Given the description of an element on the screen output the (x, y) to click on. 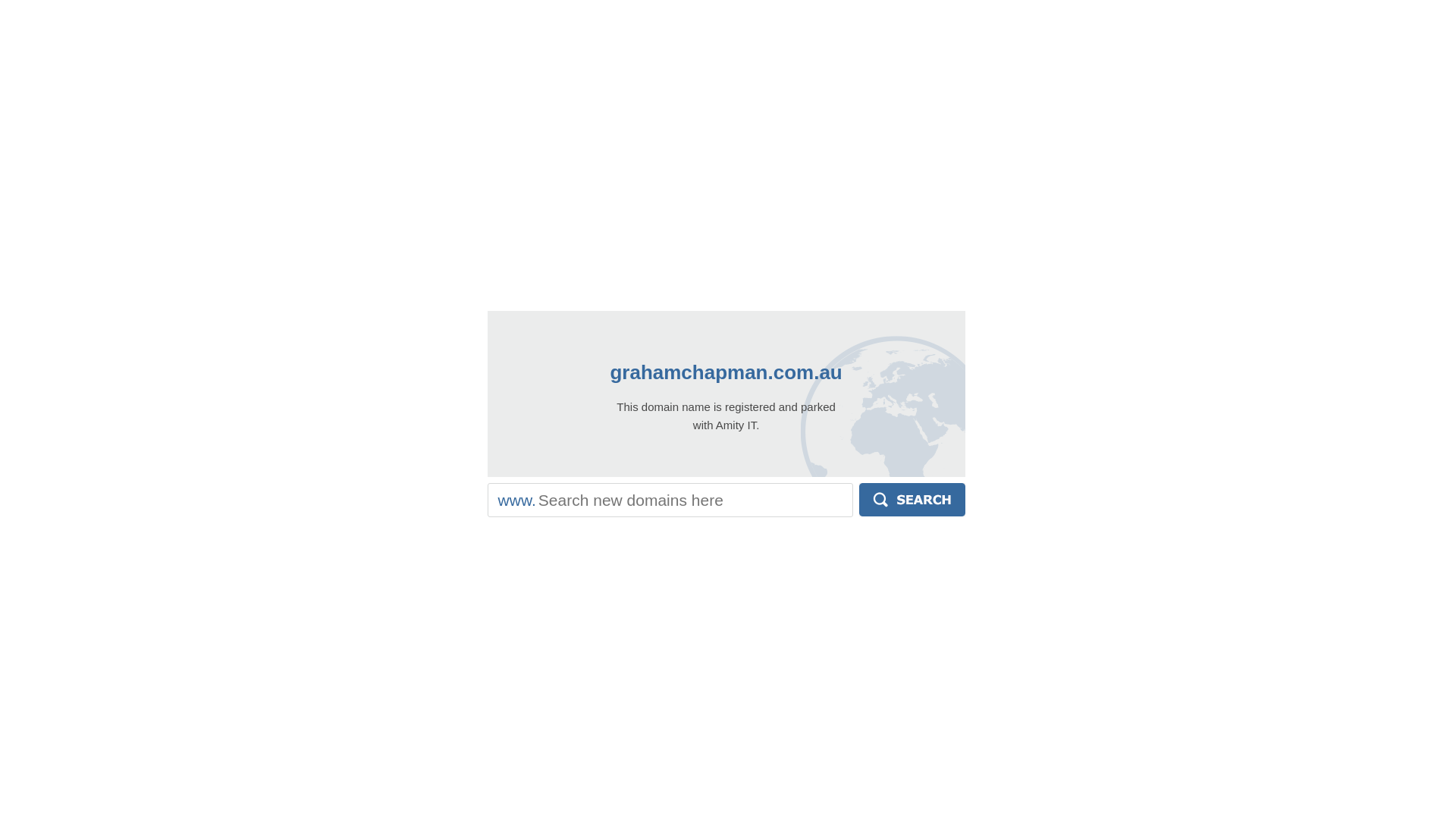
Search Element type: text (912, 499)
